Given the description of an element on the screen output the (x, y) to click on. 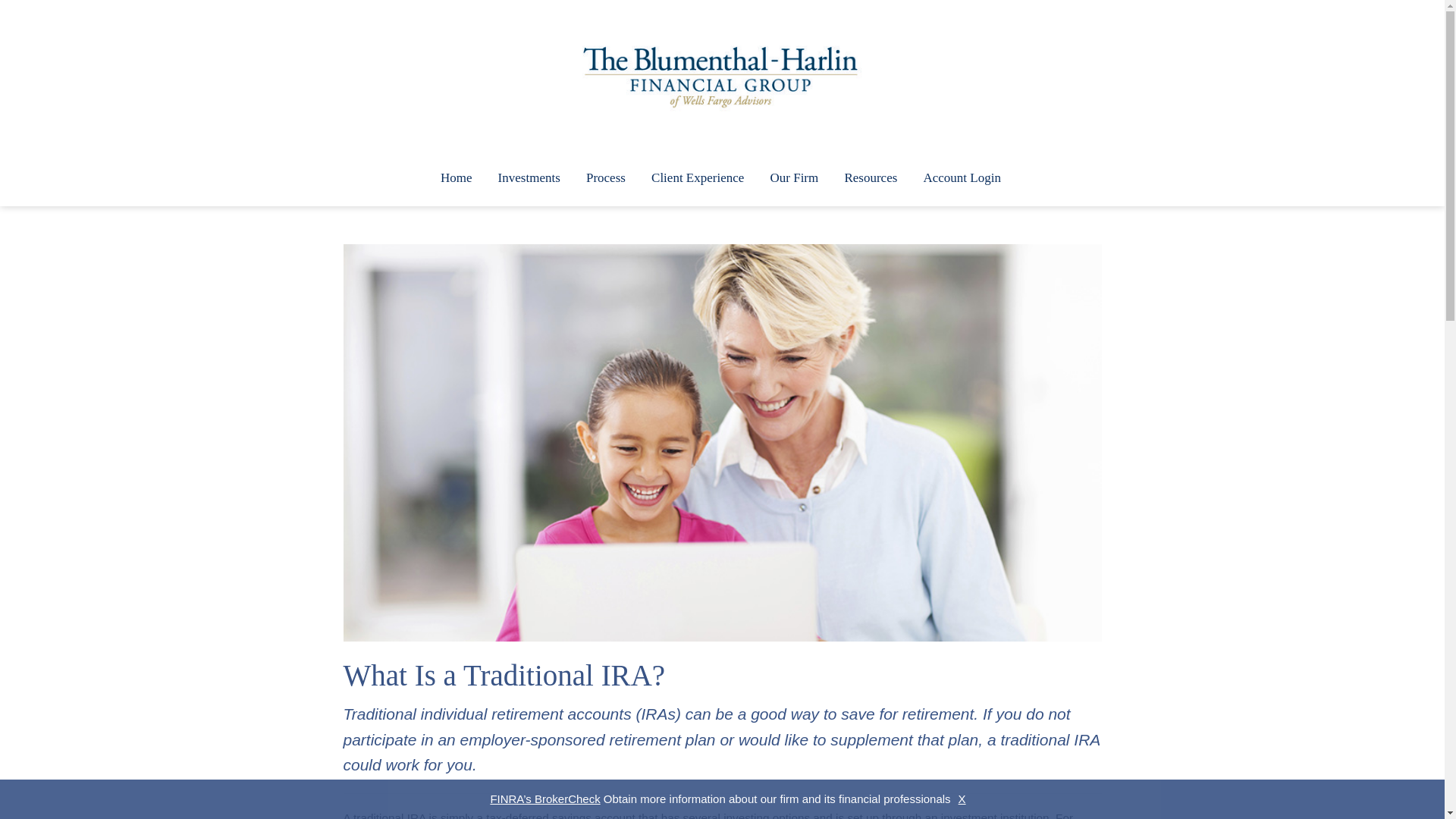
Home (456, 178)
Client Experience (697, 178)
Resources (870, 178)
Process (606, 178)
Account Login (961, 178)
Our Firm (793, 178)
Investments (529, 178)
